Given the description of an element on the screen output the (x, y) to click on. 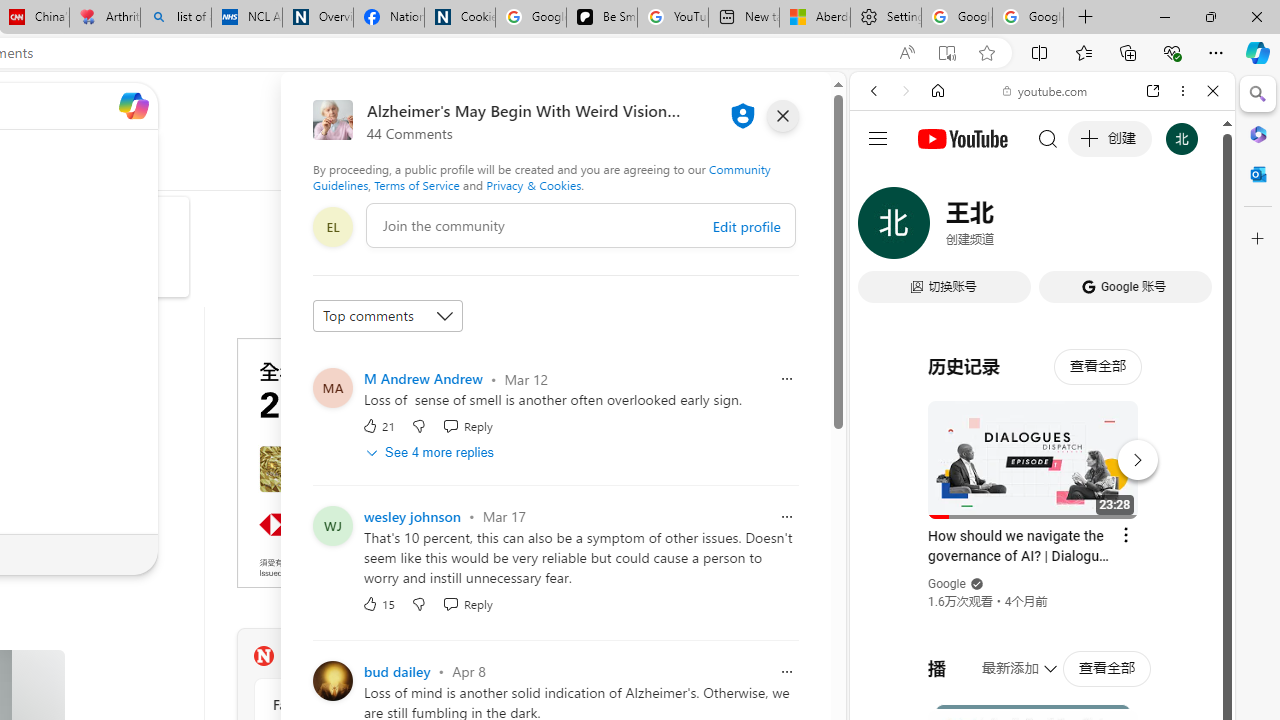
Forward (906, 91)
Search Filter, WEB (882, 228)
Aberdeen, Hong Kong SAR hourly forecast | Microsoft Weather (814, 17)
youtube.com (1046, 90)
Go to publisher's site (22, 378)
Newsweek (263, 655)
Visit Newsweek website (511, 655)
Bike Gurus (93, 214)
